Given the description of an element on the screen output the (x, y) to click on. 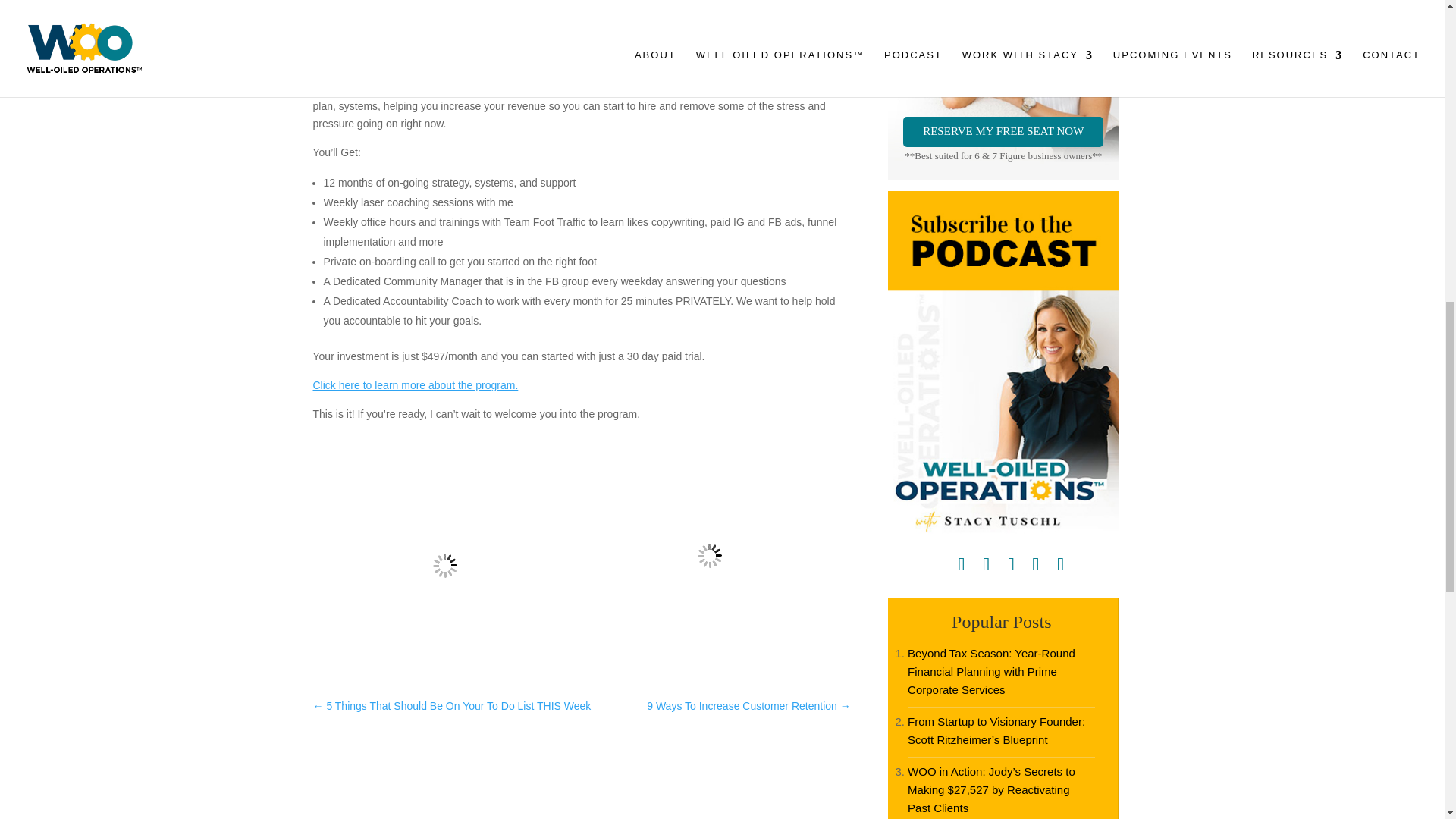
Click here to learn more about the program. (415, 385)
RESERVE MY FREE SEAT NOW (1002, 132)
